Given the description of an element on the screen output the (x, y) to click on. 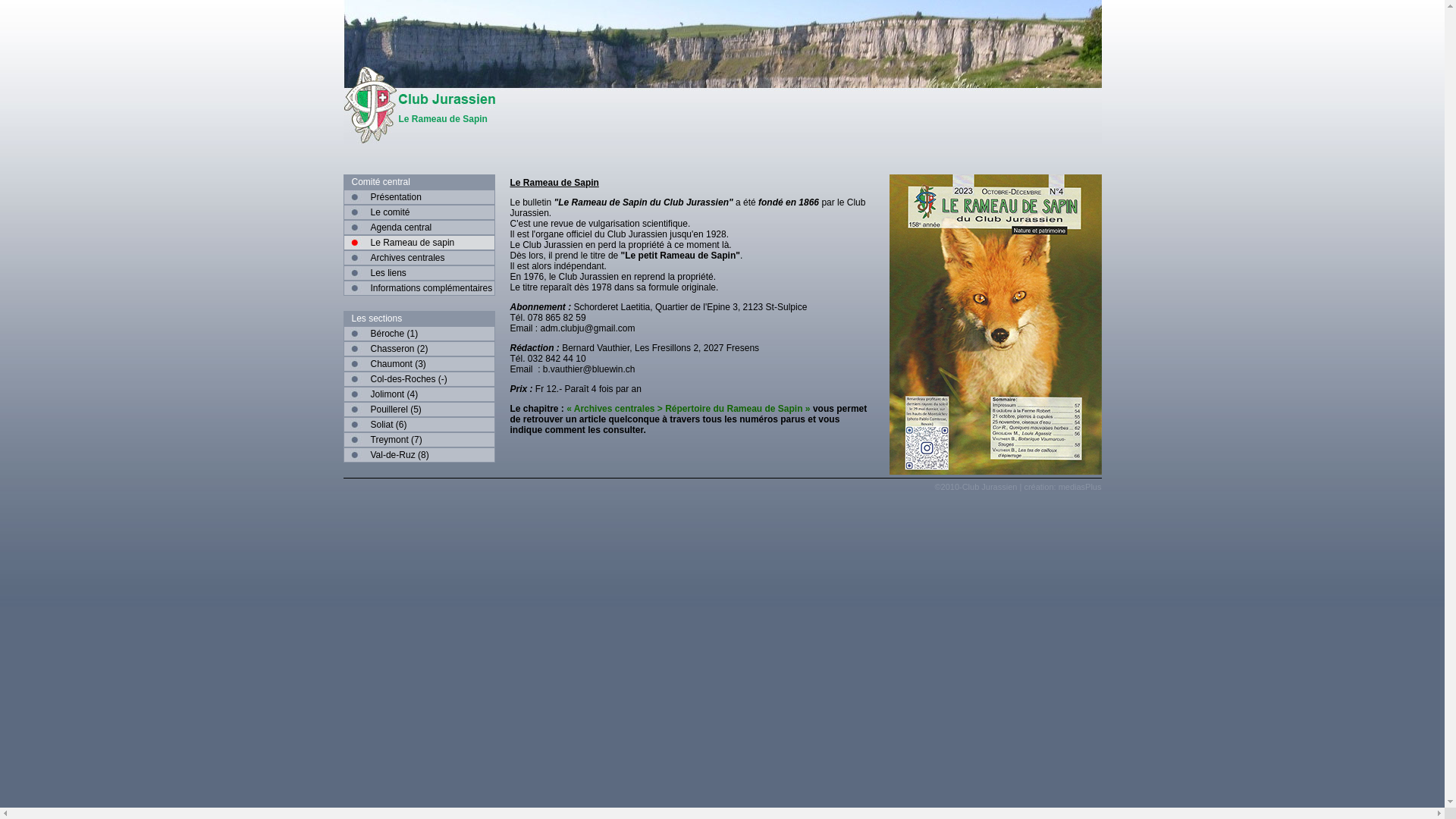
Treymont (7) Element type: text (418, 439)
Chasseron (2) Element type: text (418, 348)
Les liens Element type: text (418, 272)
Le Rameau de sapin Element type: text (418, 242)
Val-de-Ruz (8) Element type: text (418, 454)
adm.clubju@gmail.com Element type: text (587, 328)
Archives centrales Element type: text (418, 257)
Soliat (6) Element type: text (418, 424)
b.vauthier@bluewin.ch Element type: text (588, 369)
Jolimont (4) Element type: text (418, 393)
Pouillerel (5) Element type: text (418, 409)
Chaumont (3) Element type: text (418, 363)
Col-des-Roches (-) Element type: text (418, 378)
Agenda central Element type: text (418, 227)
